Given the description of an element on the screen output the (x, y) to click on. 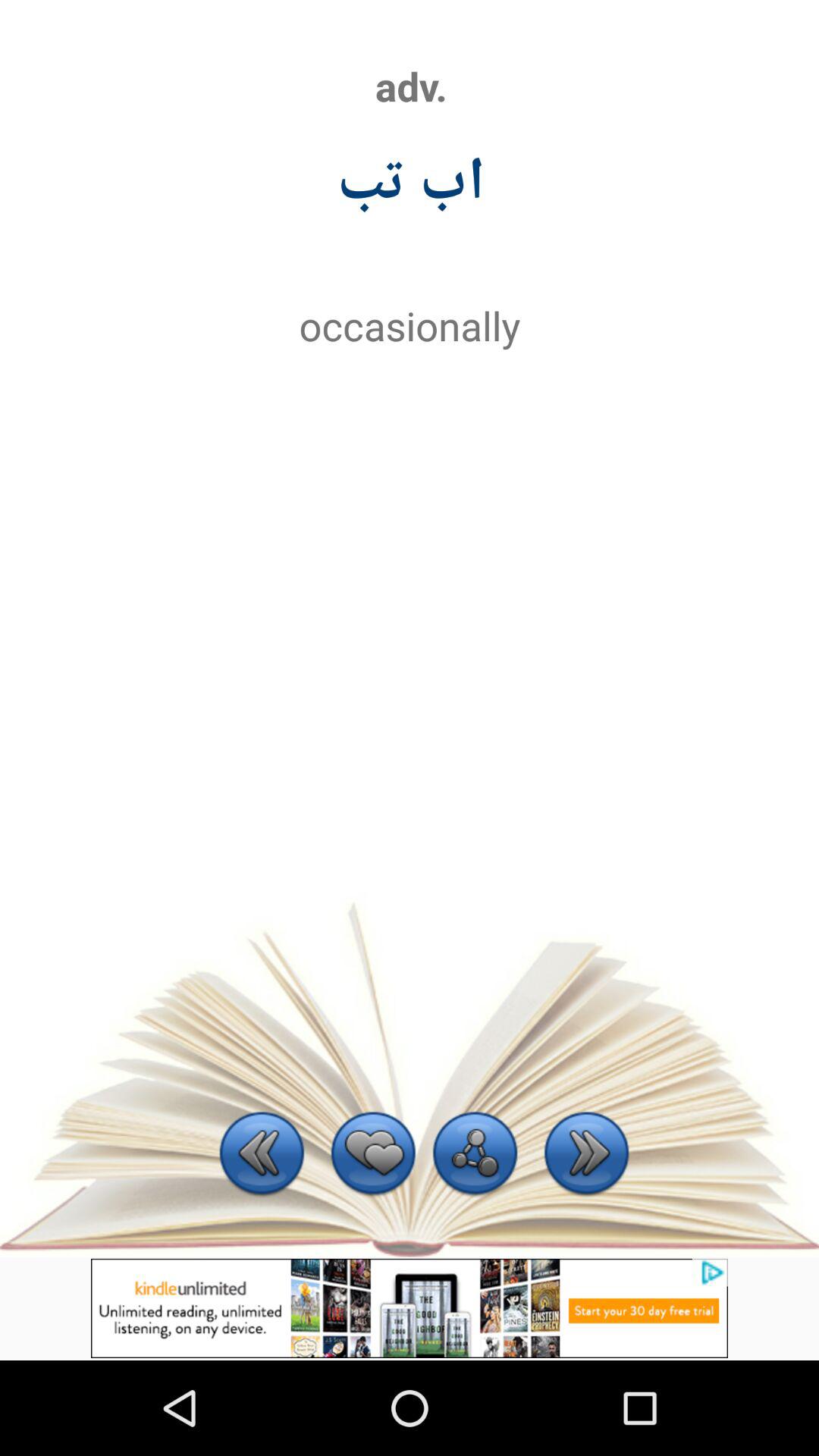
add to favorites (373, 1155)
